Given the description of an element on the screen output the (x, y) to click on. 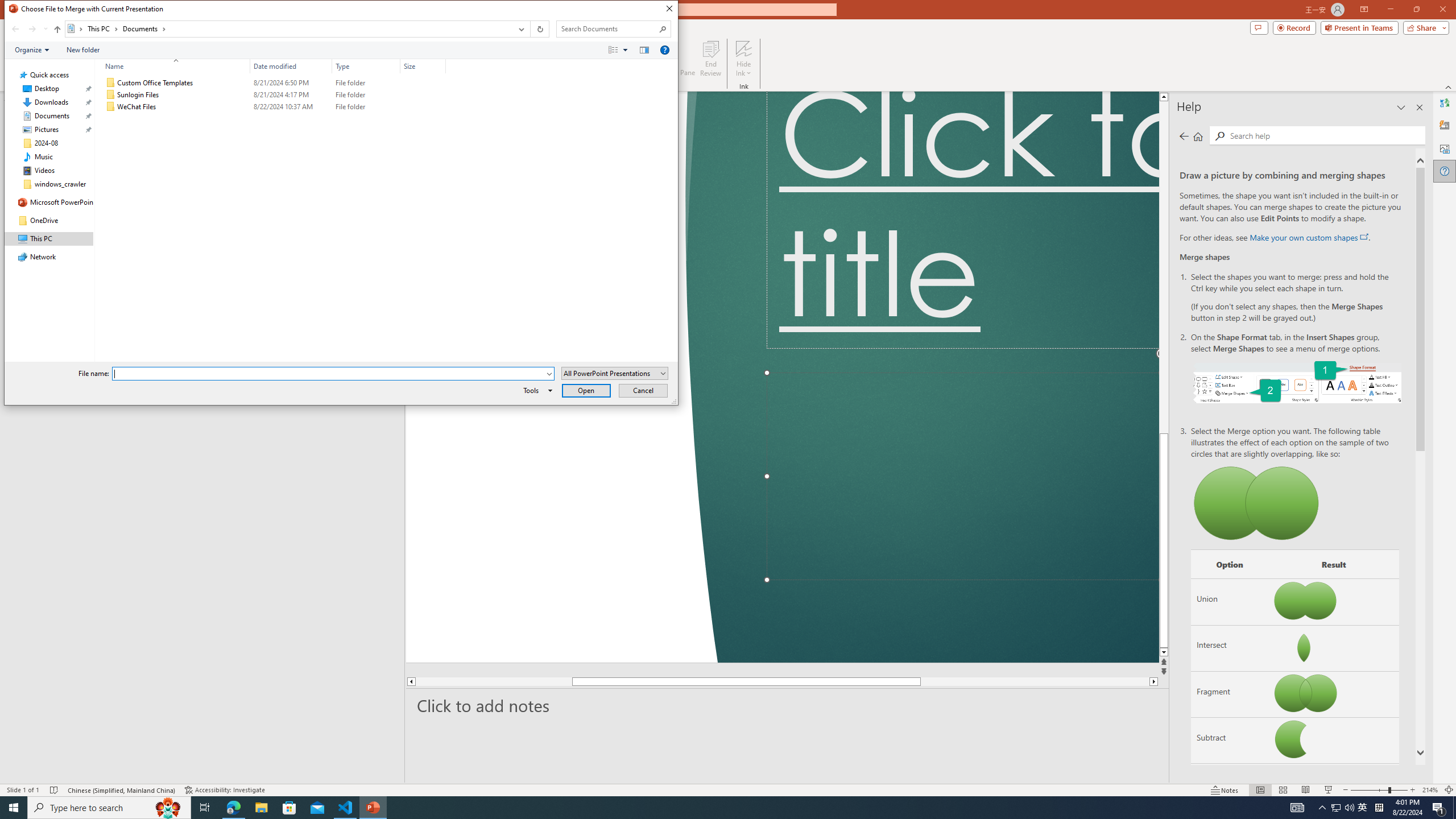
Organize (31, 49)
Command Module (341, 49)
Tools (535, 390)
Documents (144, 28)
Custom Office Templates (273, 82)
